Given the description of an element on the screen output the (x, y) to click on. 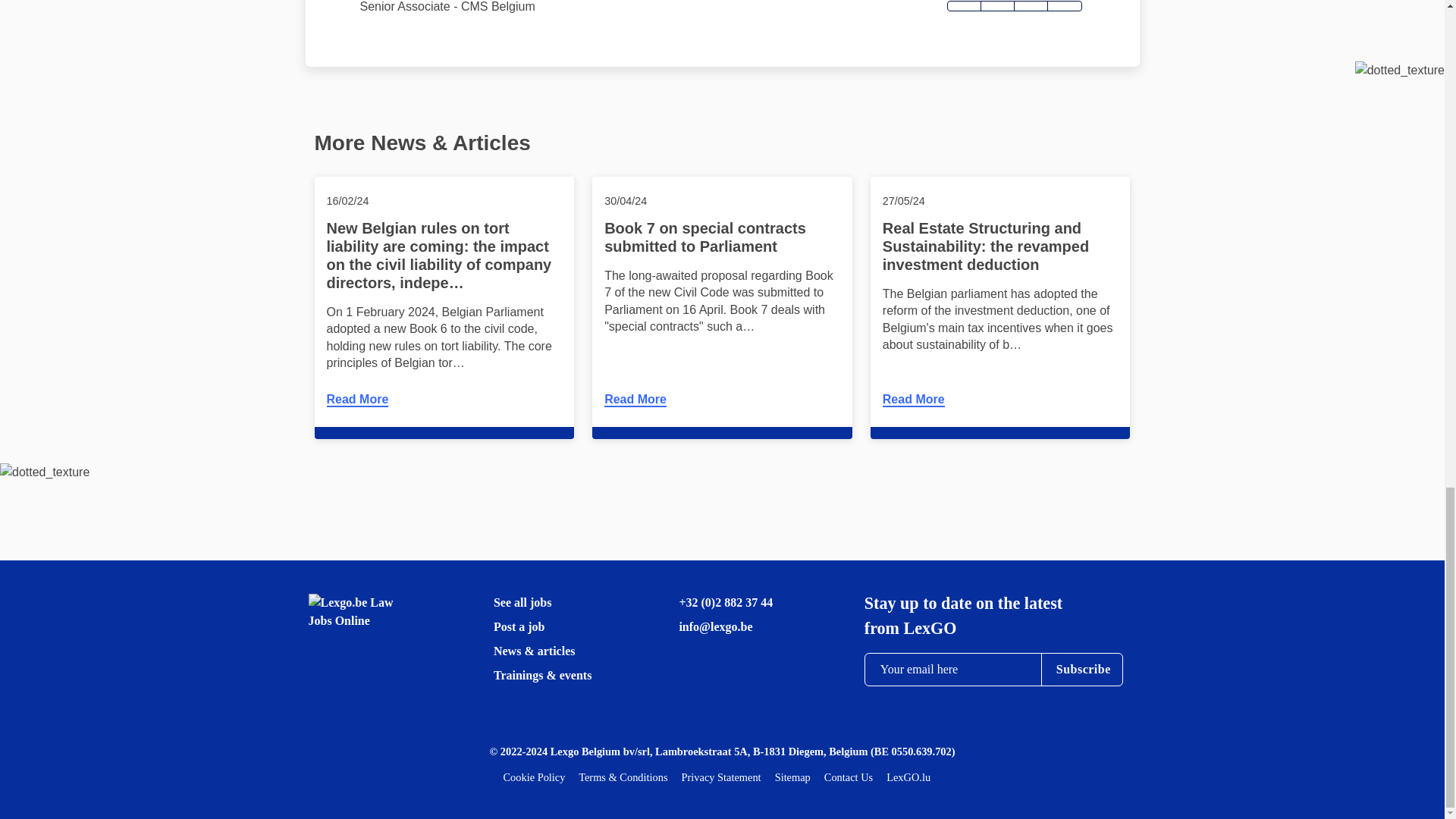
Subscribe (1083, 669)
Senior Associate - CMS Belgium (446, 6)
Read More (357, 400)
Read More (635, 400)
